Given the description of an element on the screen output the (x, y) to click on. 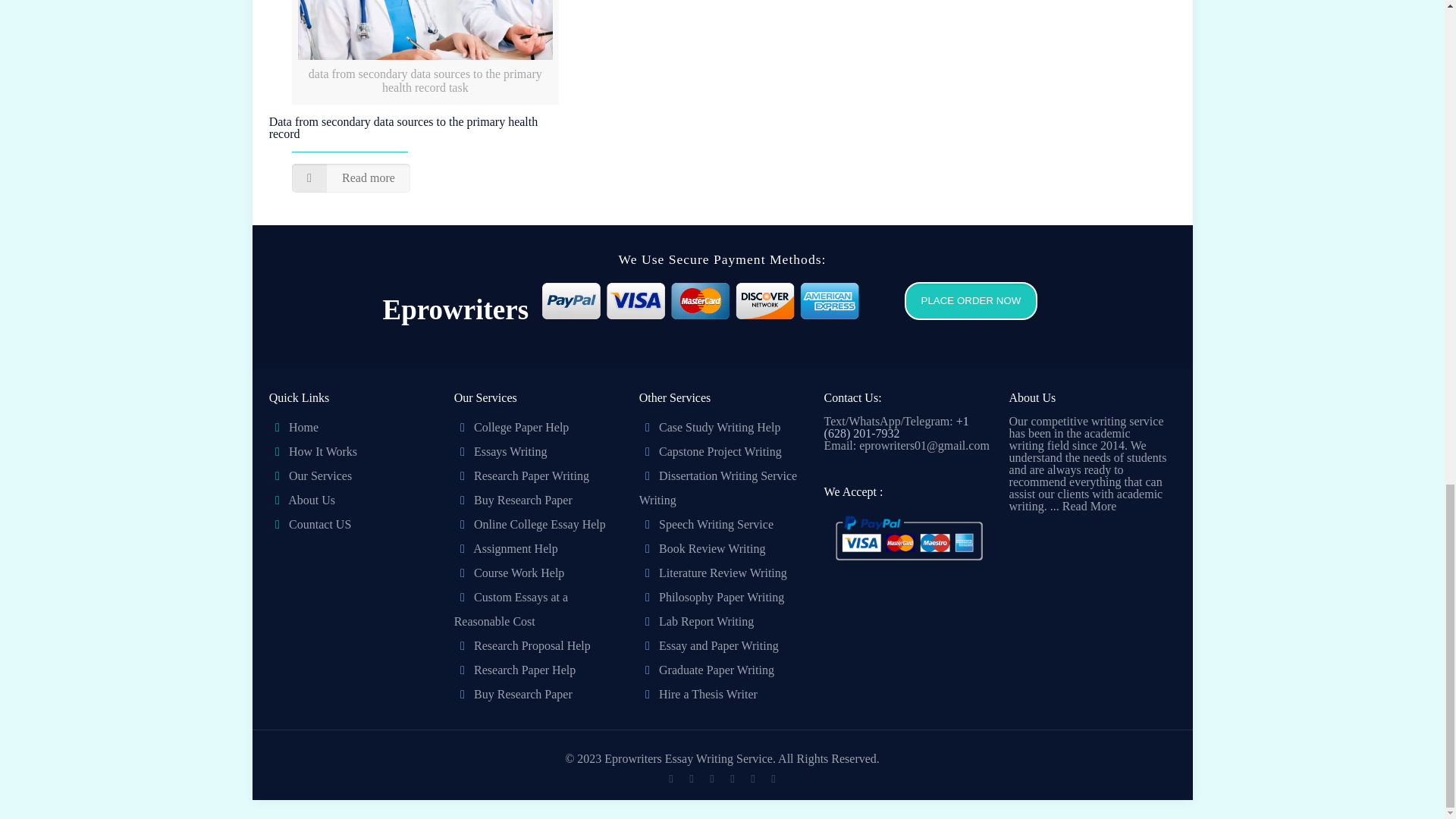
Twitter (711, 778)
PLACE ORDER NOW (962, 313)
LinkedIn (731, 778)
Instagram (752, 778)
WhatsApp (670, 778)
Facebook (690, 778)
Home (303, 427)
How It Works (322, 451)
PLACE ORDER NOW (971, 300)
Read more (351, 177)
